Given the description of an element on the screen output the (x, y) to click on. 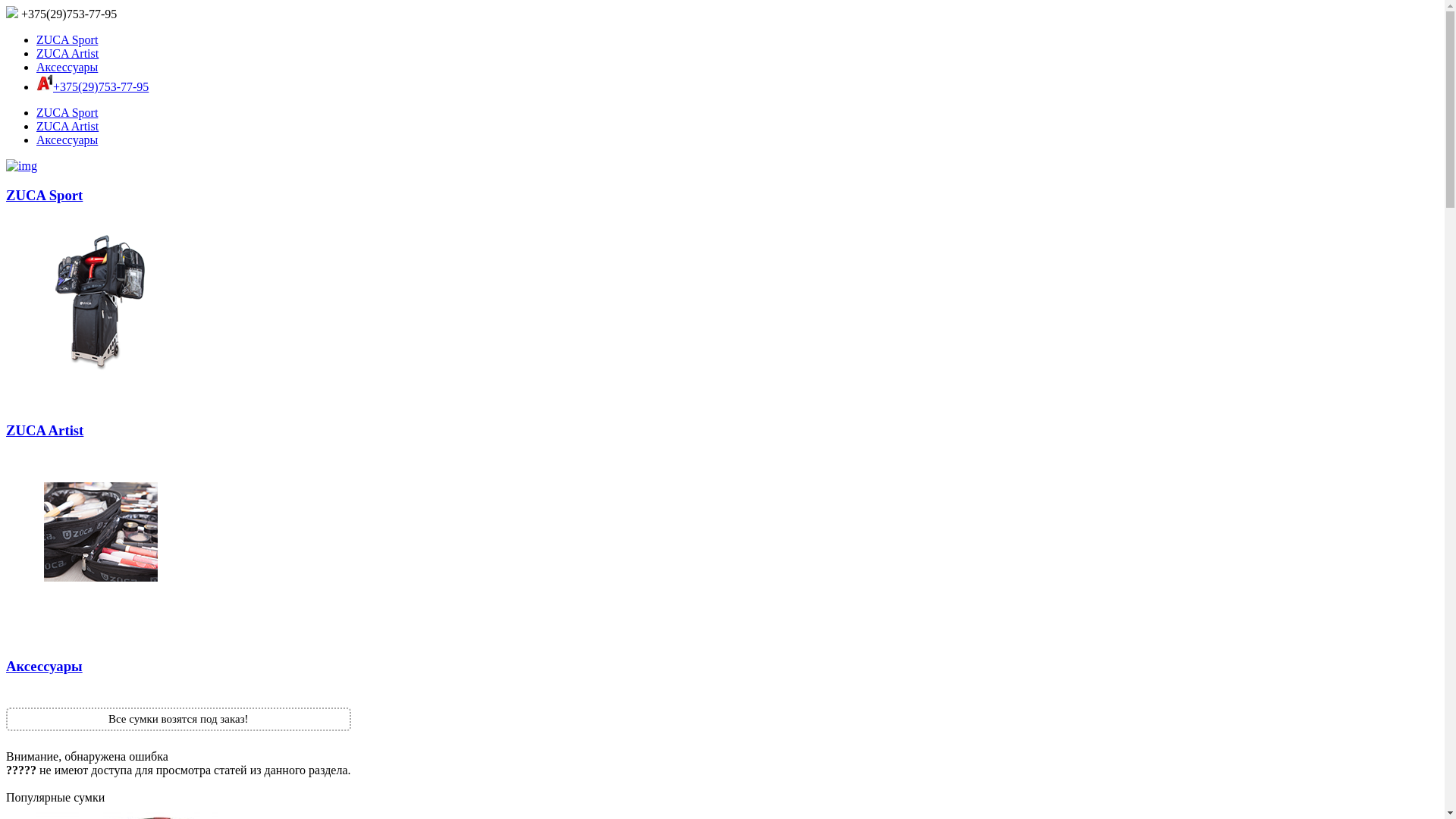
ZUCA Artist Element type: text (722, 521)
ZUCA Sport Element type: text (722, 284)
+375(29)753-77-95 Element type: text (61, 13)
ZUCA Artist Element type: text (67, 53)
+375(29)753-77-95 Element type: text (100, 86)
ZUCA Artist Element type: text (67, 125)
ZUCA Sport Element type: text (66, 112)
ZUCA Sport Element type: text (66, 39)
